Given the description of an element on the screen output the (x, y) to click on. 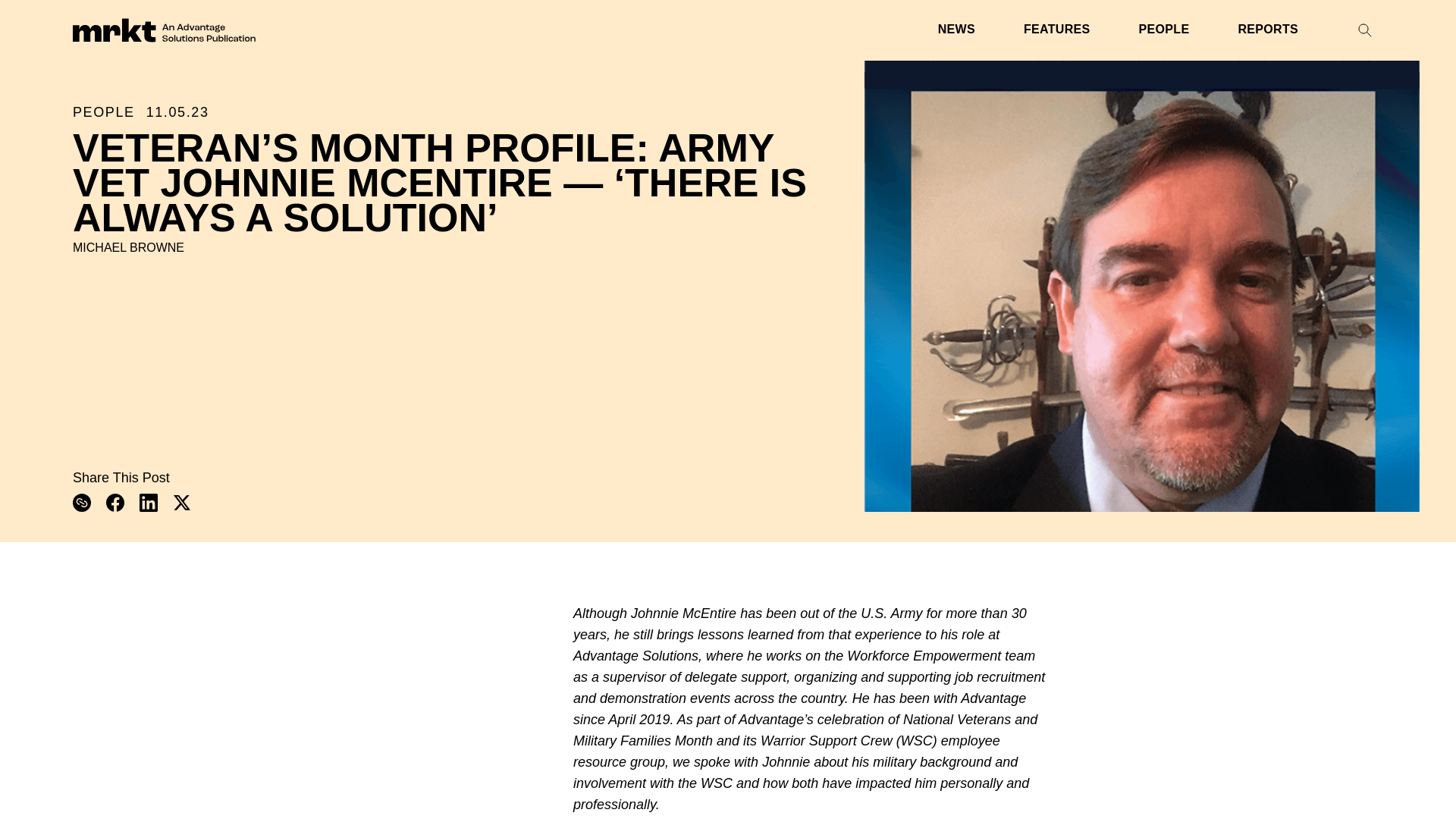
FEATURES (1056, 29)
Copy URL to the clipboard (81, 502)
NEWS (956, 29)
REPORTS (1267, 29)
PEOPLE (1163, 29)
Open on Facebook (114, 502)
Open on LinkedIn (148, 502)
